Given the description of an element on the screen output the (x, y) to click on. 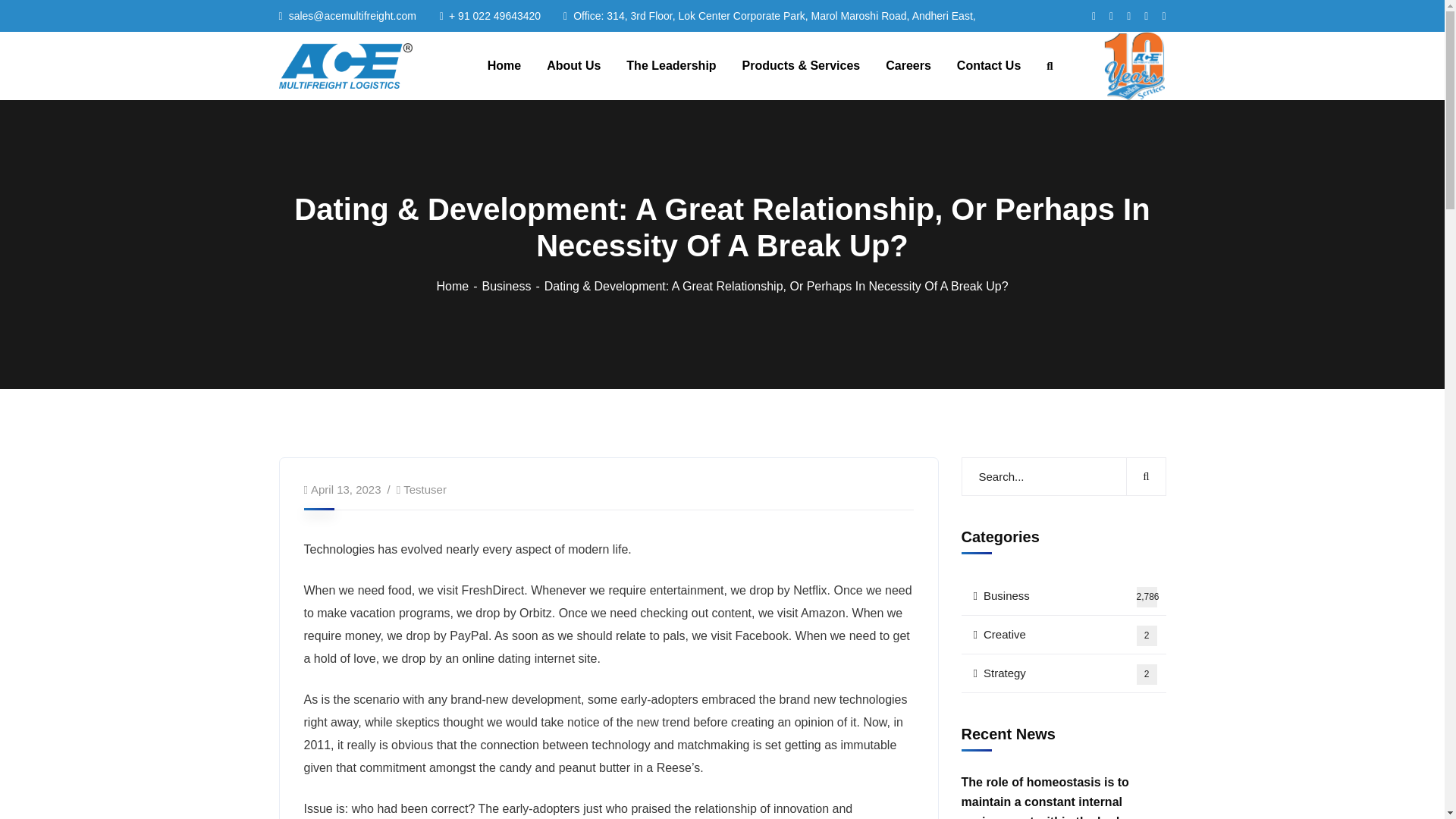
The Leadership (671, 66)
Contact Us (988, 66)
Testuser (424, 489)
Business (1063, 673)
Posts by testuser (1063, 634)
